Given the description of an element on the screen output the (x, y) to click on. 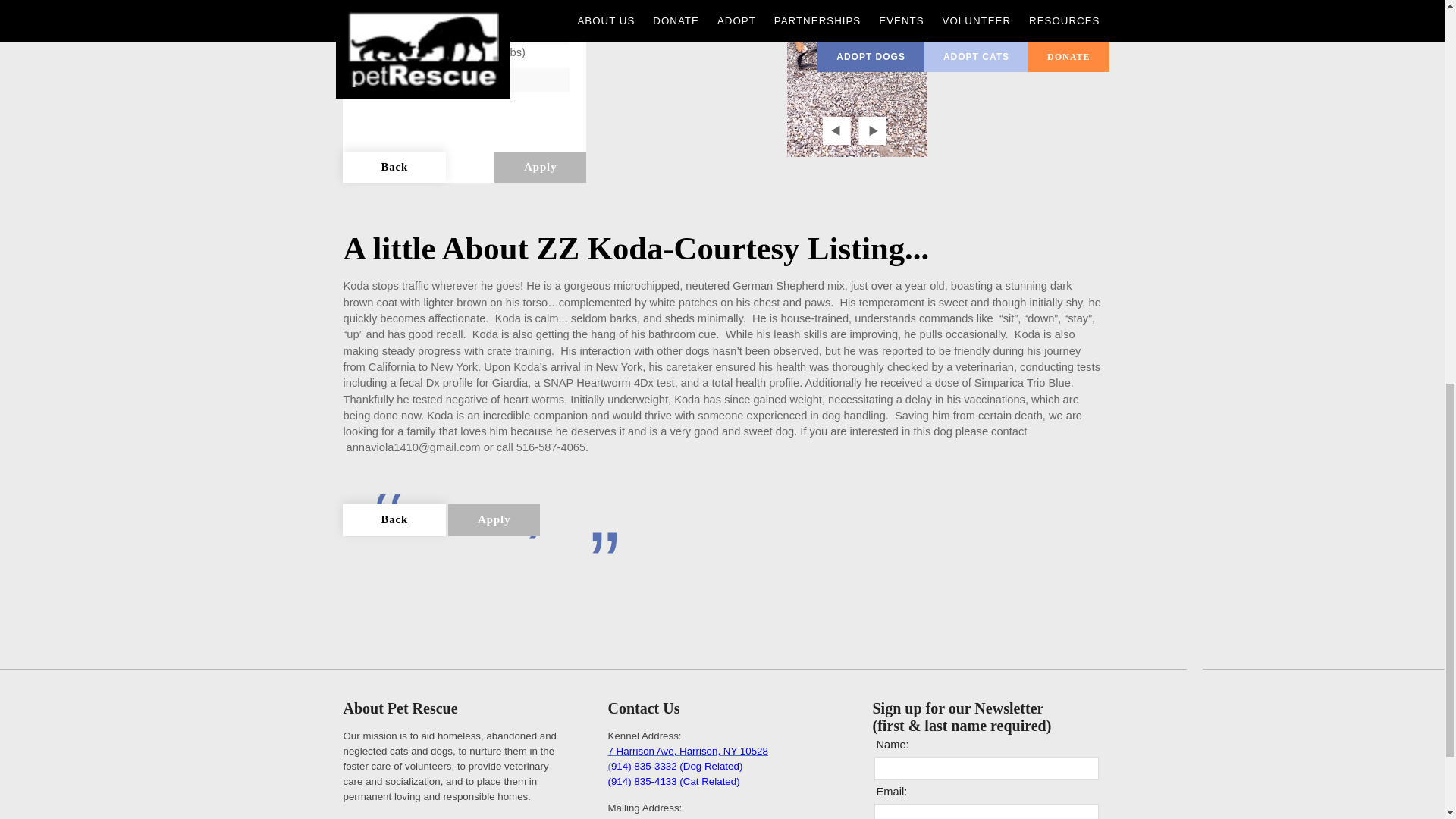
Email (985, 811)
Name (985, 767)
